Given the description of an element on the screen output the (x, y) to click on. 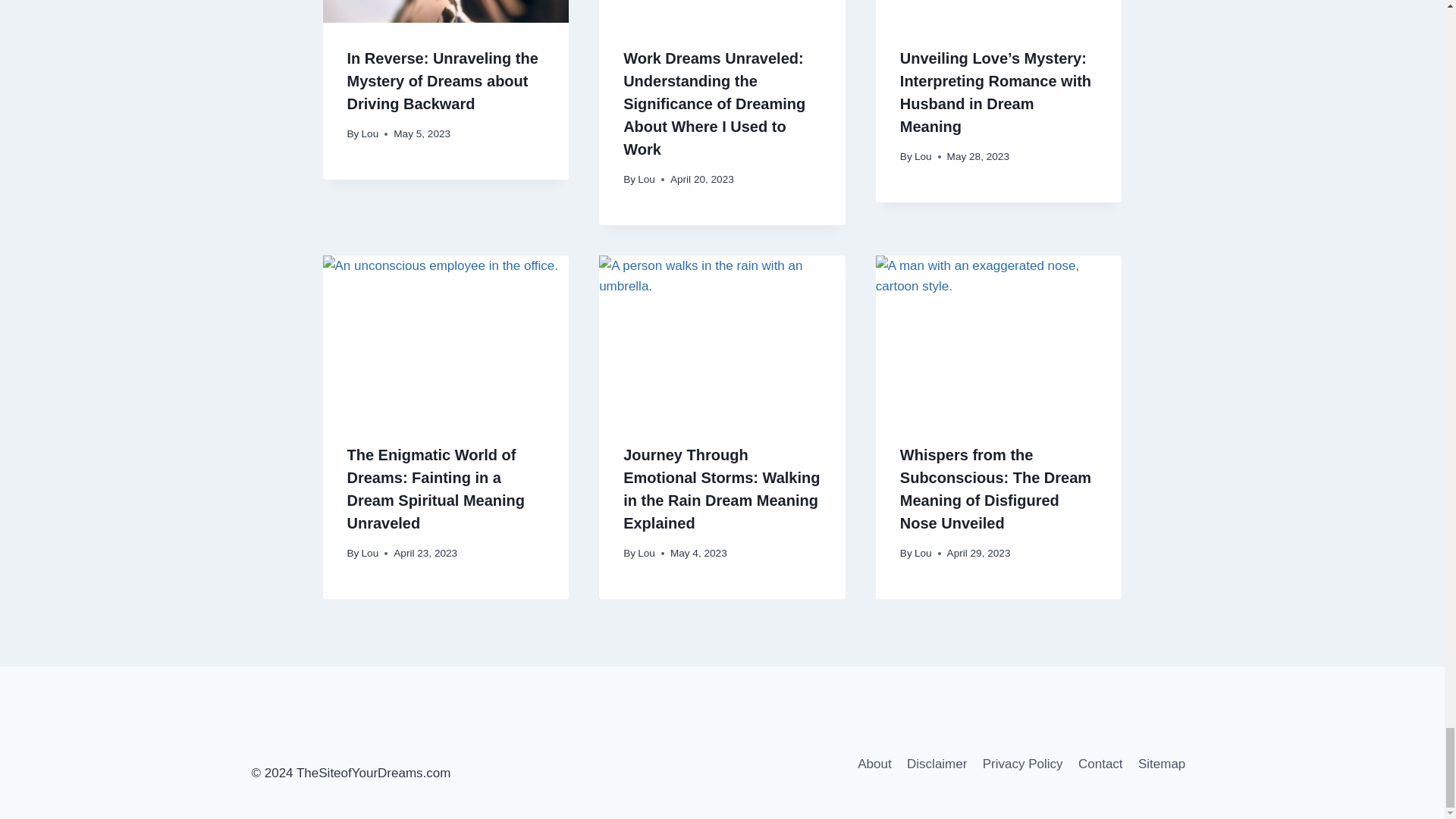
Lou (646, 179)
Lou (369, 133)
Lou (922, 156)
